Given the description of an element on the screen output the (x, y) to click on. 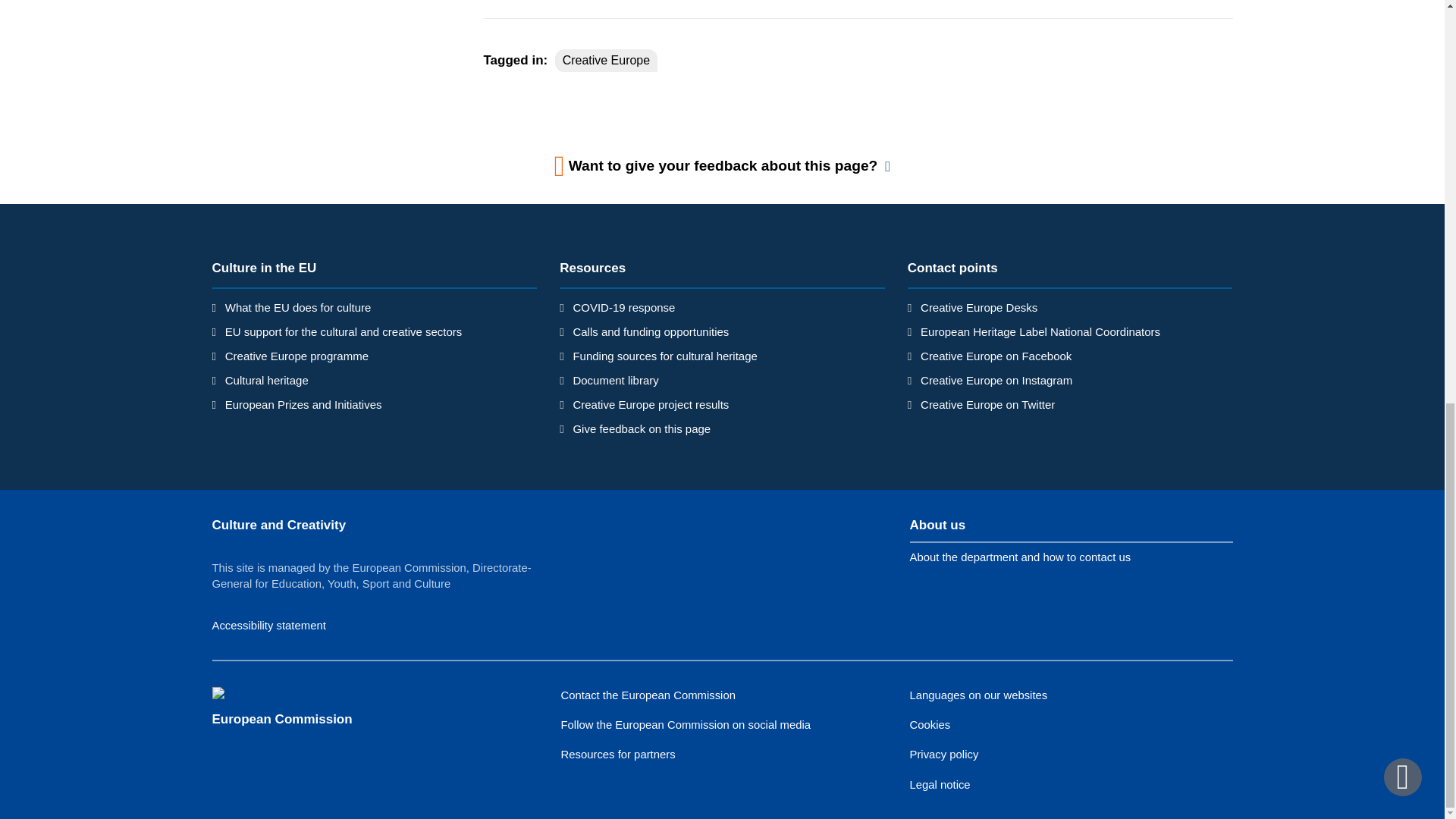
Culture and Creativity (279, 524)
Creative Europe on Instagram (995, 379)
COVID-19 response (623, 307)
Cultural heritage (266, 379)
What the EU does for culture (298, 307)
Creative Europe on Facebook (995, 355)
Calls and funding opportunities (650, 331)
European Prizes and Initiatives (303, 404)
Creative Europe programme (296, 355)
European Heritage Label National Coordinators (1040, 331)
Creative Europe project results (650, 404)
Creative Europe Desks (978, 307)
Funding sources for cultural heritage (664, 355)
European Commission (282, 718)
Give feedback on this page (641, 428)
